Given the description of an element on the screen output the (x, y) to click on. 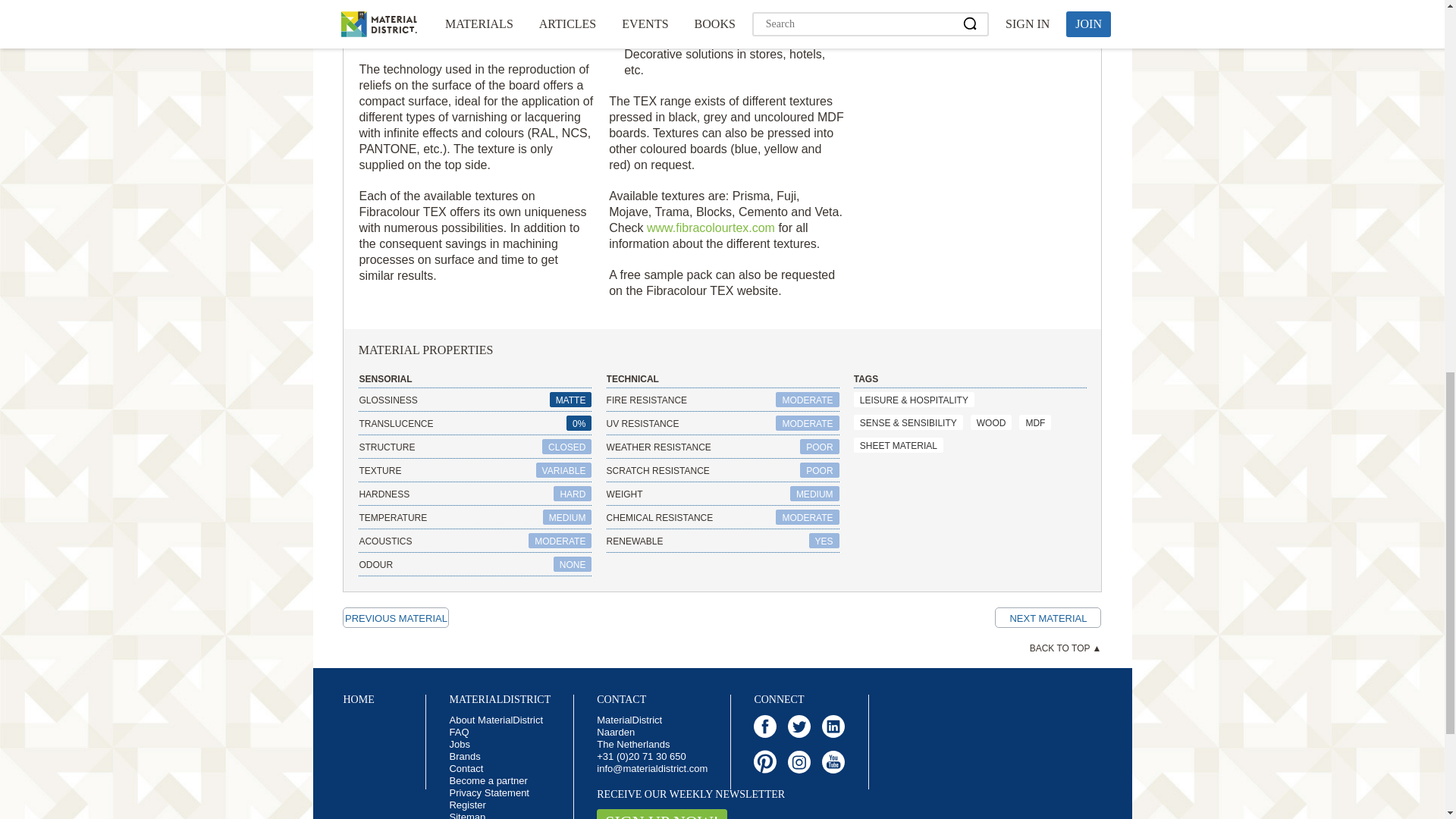
MATTE (571, 399)
Home (358, 699)
Recycled Jeans on The Wall (395, 617)
CLOSED (566, 446)
Fibranatur TEX (1047, 617)
www.fibracolourtex.com (710, 227)
VARIABLE (563, 469)
